Given the description of an element on the screen output the (x, y) to click on. 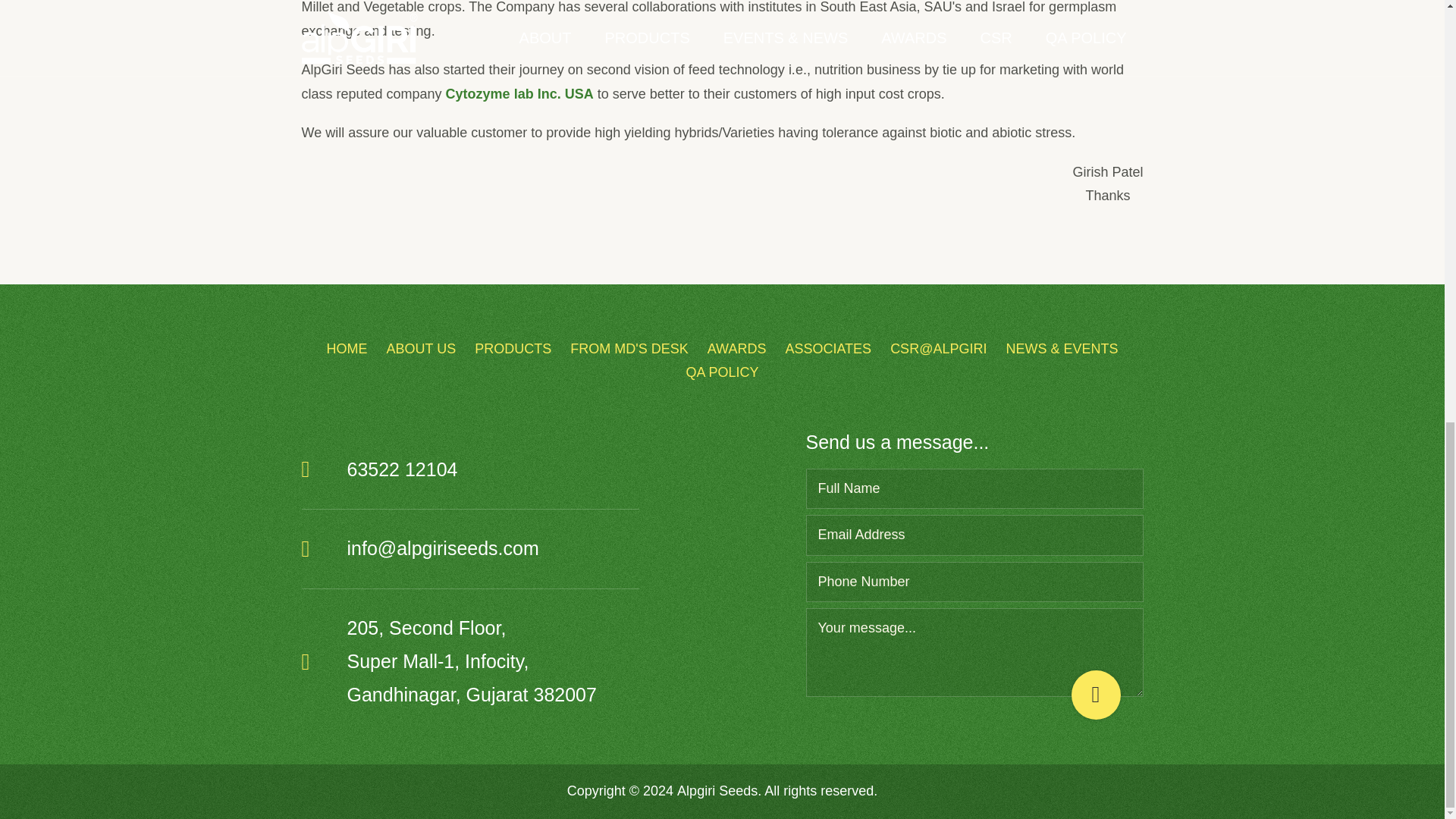
PRODUCTS (513, 348)
QA POLICY (722, 372)
FROM MD'S DESK (628, 348)
HOME (346, 348)
ASSOCIATES (827, 348)
ABOUT US (421, 348)
AWARDS (737, 348)
